Given the description of an element on the screen output the (x, y) to click on. 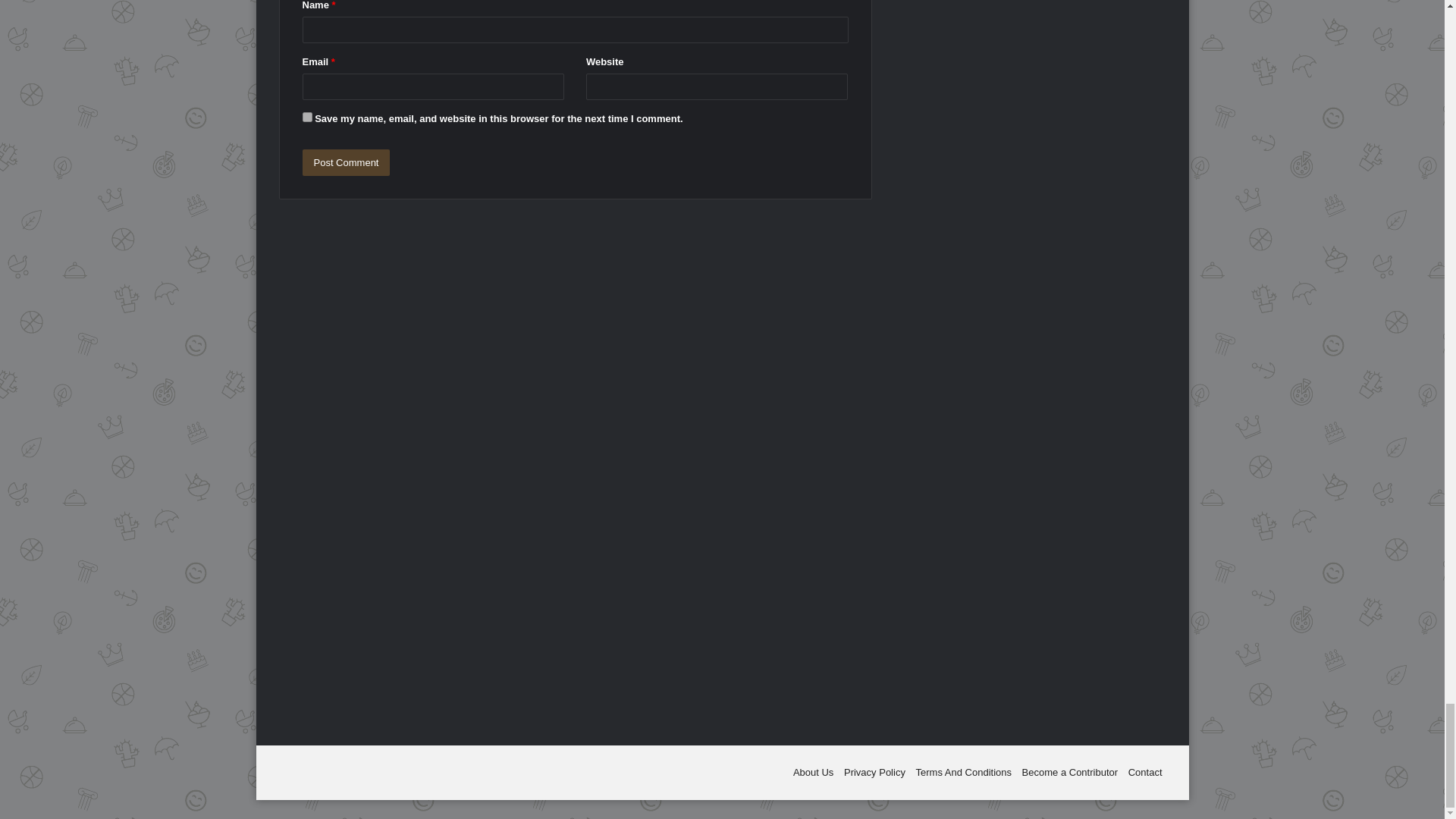
yes (306, 117)
Post Comment (345, 162)
